Given the description of an element on the screen output the (x, y) to click on. 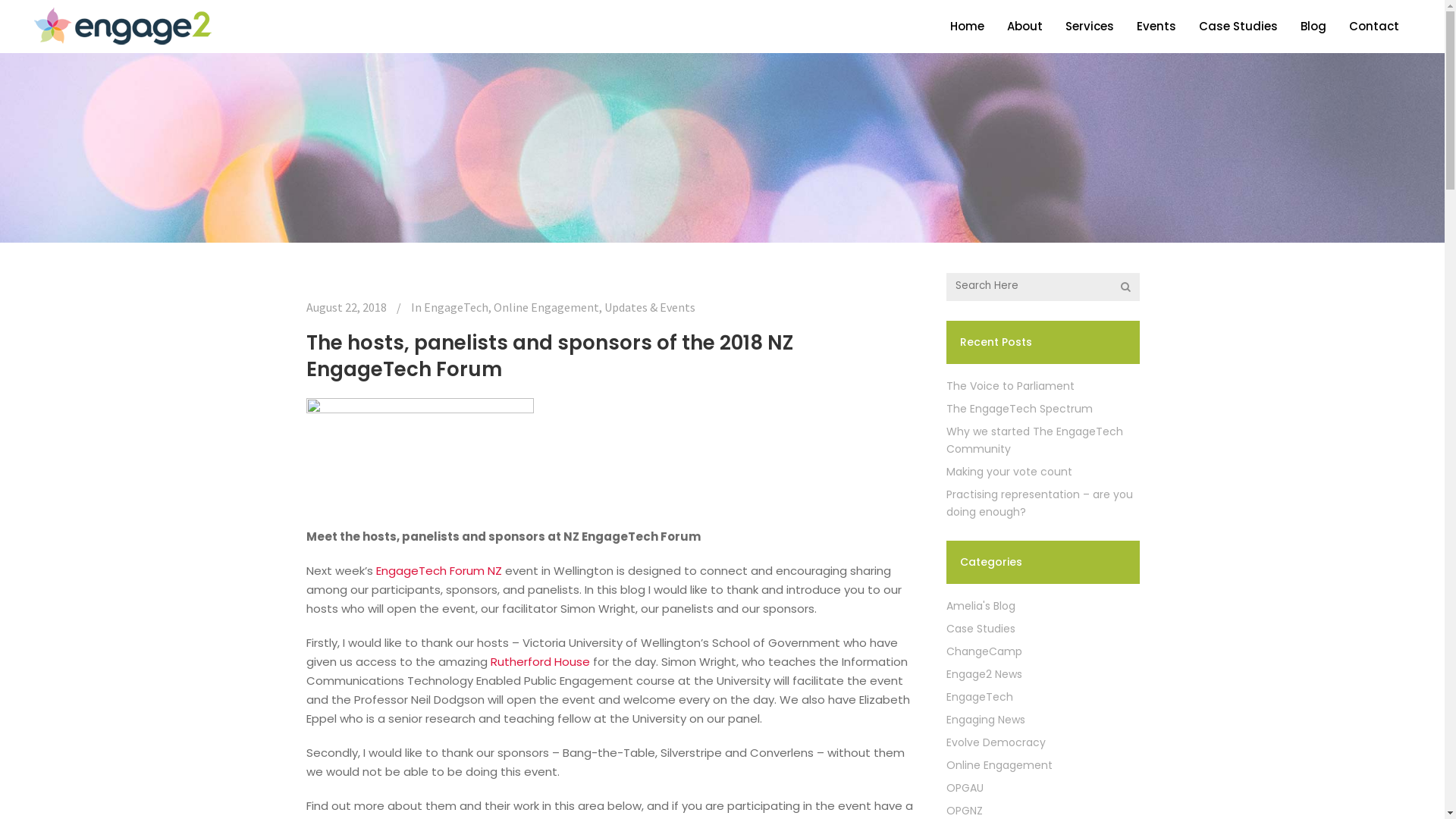
Why we started The EngageTech Community Element type: text (1034, 439)
About Element type: text (1024, 26)
E Element type: text (378, 570)
Rutherford House Element type: text (539, 661)
The Voice to Parliament Element type: text (1010, 385)
Services Element type: text (1089, 26)
Online Engagement Element type: text (545, 306)
Amelia's Blog Element type: text (980, 605)
OPGAU Element type: text (964, 787)
Contact Element type: text (1373, 26)
Blog Element type: text (1313, 26)
Evolve Democracy Element type: text (995, 741)
OPGNZ Element type: text (964, 810)
Engage2 News Element type: text (984, 673)
EngageTech Element type: text (455, 306)
Engaging News Element type: text (985, 719)
Updates & Events Element type: text (648, 306)
ChangeCamp Element type: text (984, 650)
ngageTech Forum NZ Element type: text (442, 570)
Events Element type: text (1156, 26)
Online Engagement Element type: text (999, 764)
Making your vote count Element type: text (1009, 471)
Case Studies Element type: text (1238, 26)
The EngageTech Spectrum Element type: text (1019, 408)
EngageTech Element type: text (979, 696)
Home Element type: text (966, 26)
Case Studies Element type: text (980, 628)
